Given the description of an element on the screen output the (x, y) to click on. 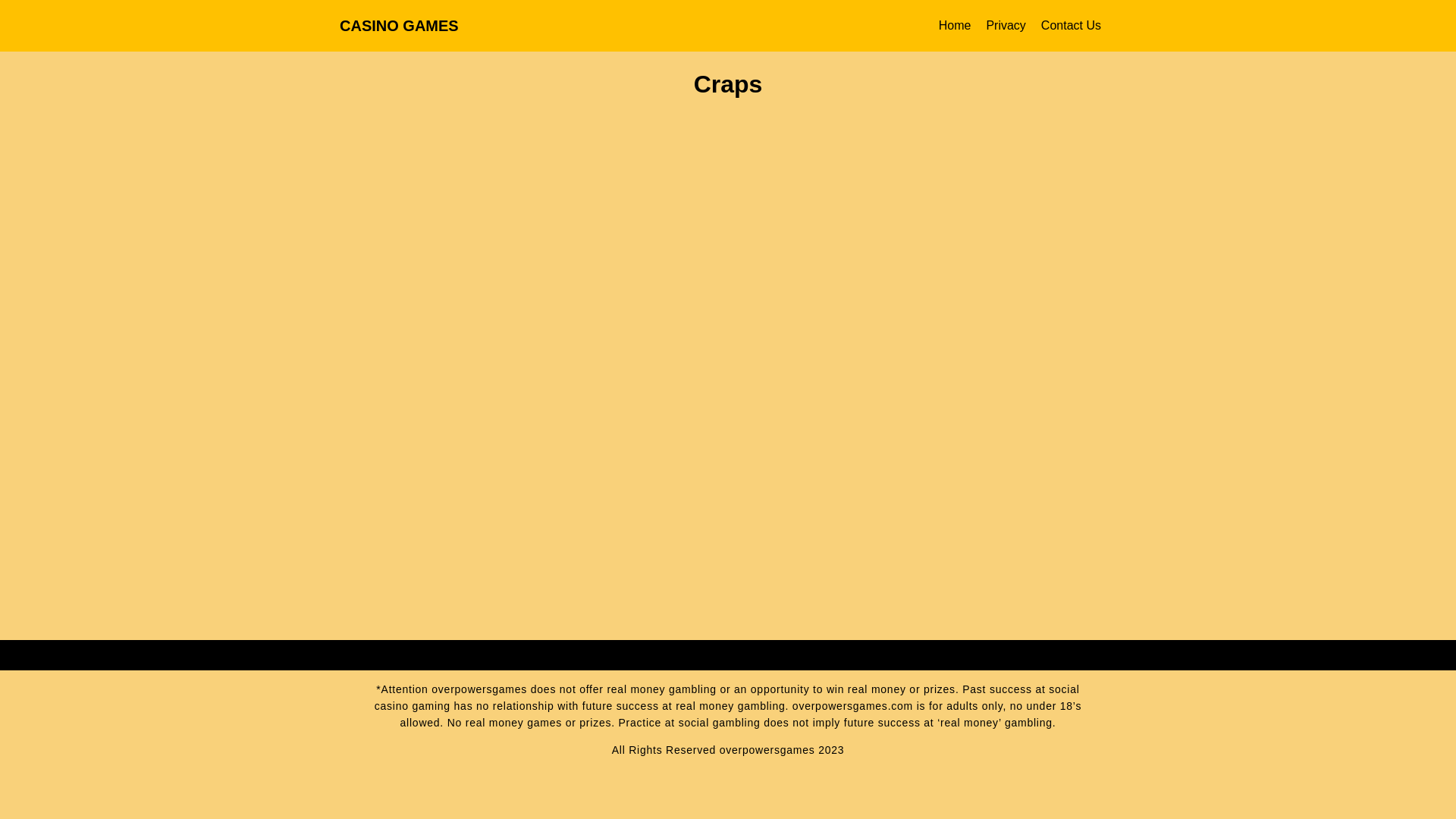
Home (955, 25)
Contact Us (1070, 25)
CASINO GAMES (398, 24)
Privacy (1005, 25)
